Given the description of an element on the screen output the (x, y) to click on. 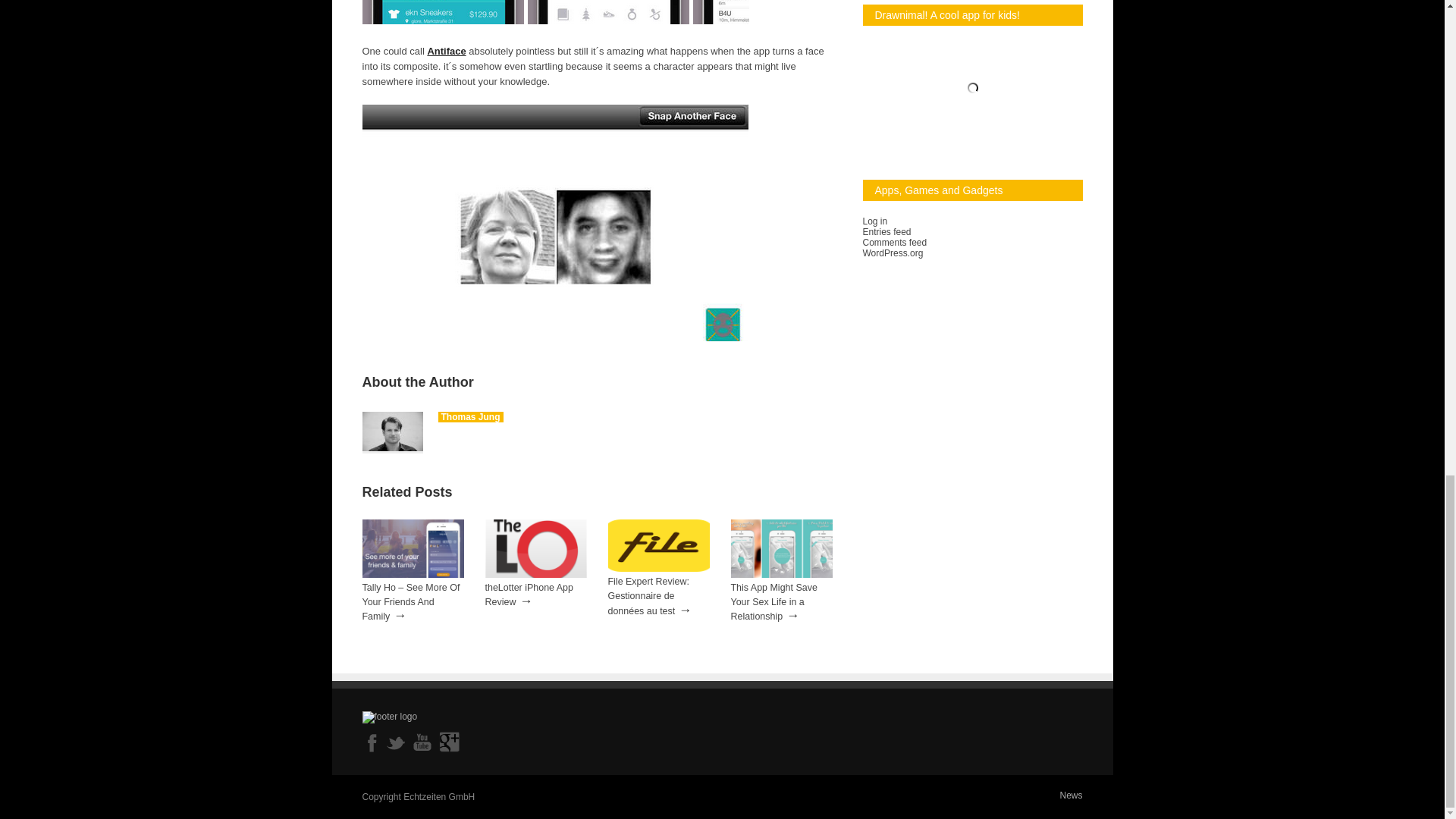
This App Might Save Your Sex Life in a Relationship (773, 601)
Thomas Jung (470, 416)
This App Might Save Your Sex Life in a Relationship (781, 574)
Antiface (445, 50)
Posts by Thomas Jung (470, 416)
This App Might Save Your Sex Life in a Relationship (773, 601)
theLotter iPhone App Review (528, 594)
theLotter iPhone App Review (535, 574)
theLotter iPhone App Review (528, 594)
